Given the description of an element on the screen output the (x, y) to click on. 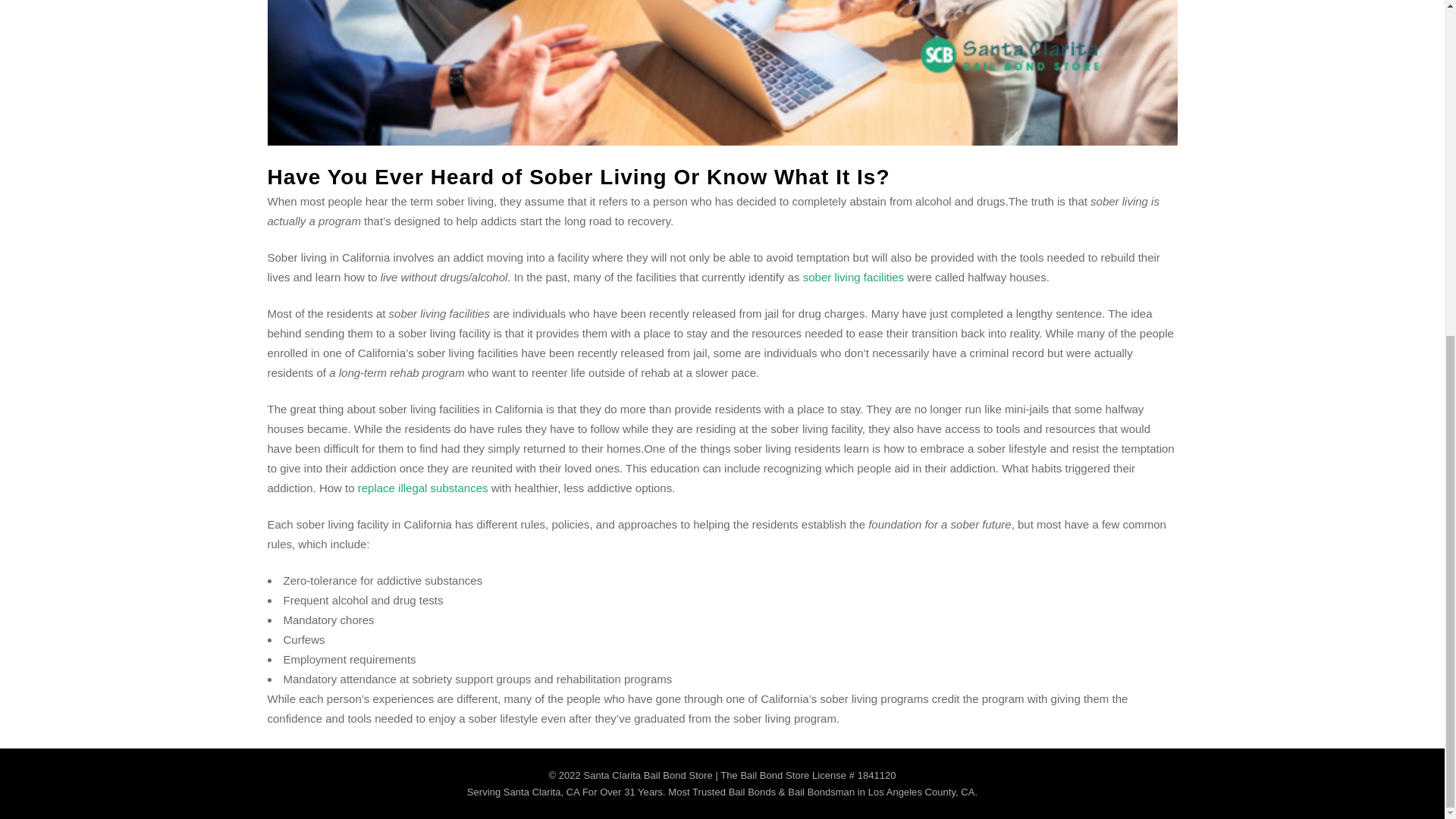
replace illegal substances (422, 487)
sober living facilities (853, 277)
Transporting Prescription Drugs (422, 487)
Bail and DUI (853, 277)
